Given the description of an element on the screen output the (x, y) to click on. 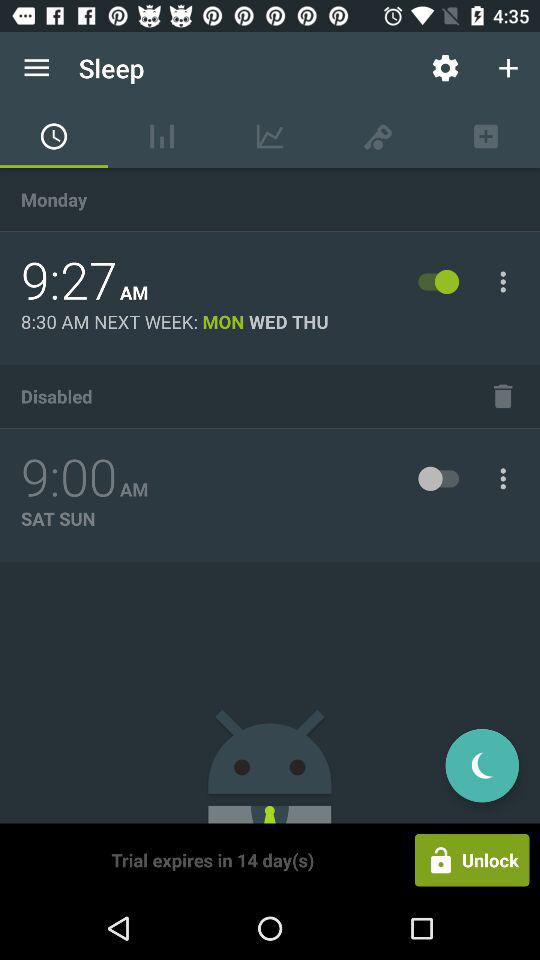
night time mode (482, 765)
